Given the description of an element on the screen output the (x, y) to click on. 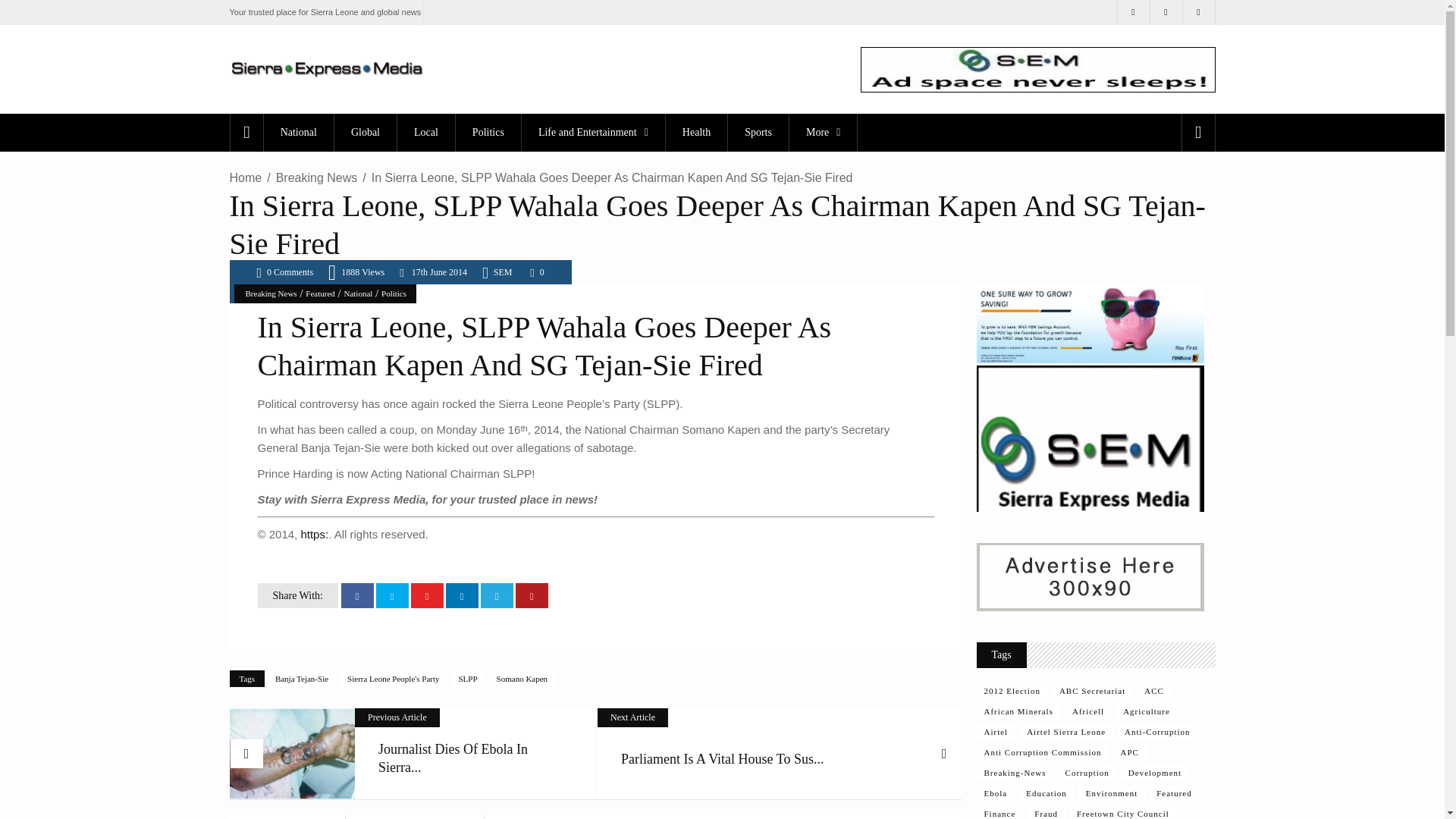
National (298, 132)
Global (364, 132)
Local (425, 132)
Politics (487, 132)
Life and Entertainment (593, 132)
